Given the description of an element on the screen output the (x, y) to click on. 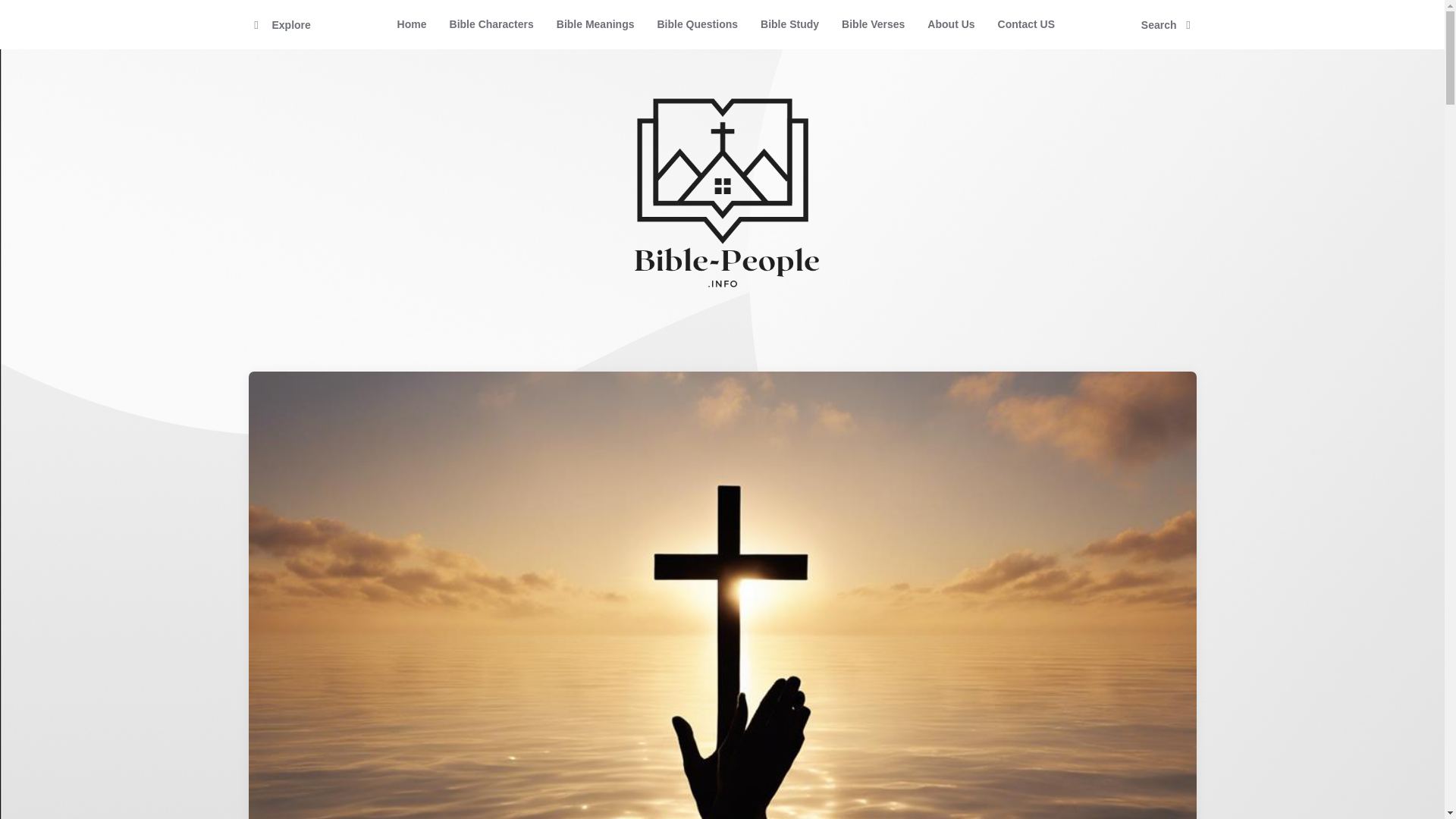
Contact US (1026, 24)
Bible Meanings (595, 24)
Home (411, 24)
Bible Characters (491, 24)
About Us (950, 24)
Bible Study (789, 24)
Bible Verses (872, 24)
Bible Questions (697, 24)
